Given the description of an element on the screen output the (x, y) to click on. 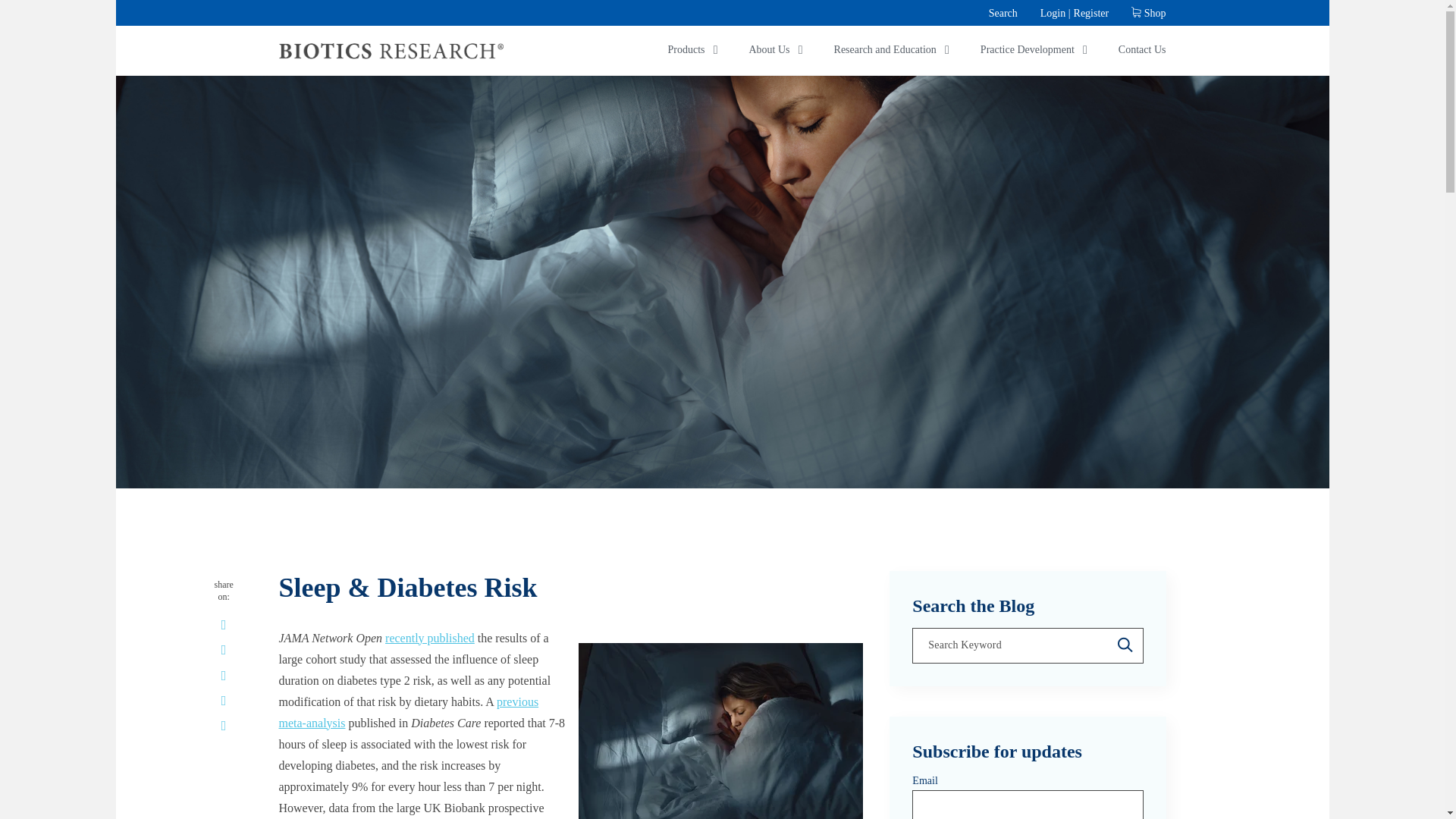
About Us (768, 49)
Research and Education (885, 49)
Products (686, 49)
 Search (1001, 12)
 Shop (1148, 12)
Register (1091, 12)
